Given the description of an element on the screen output the (x, y) to click on. 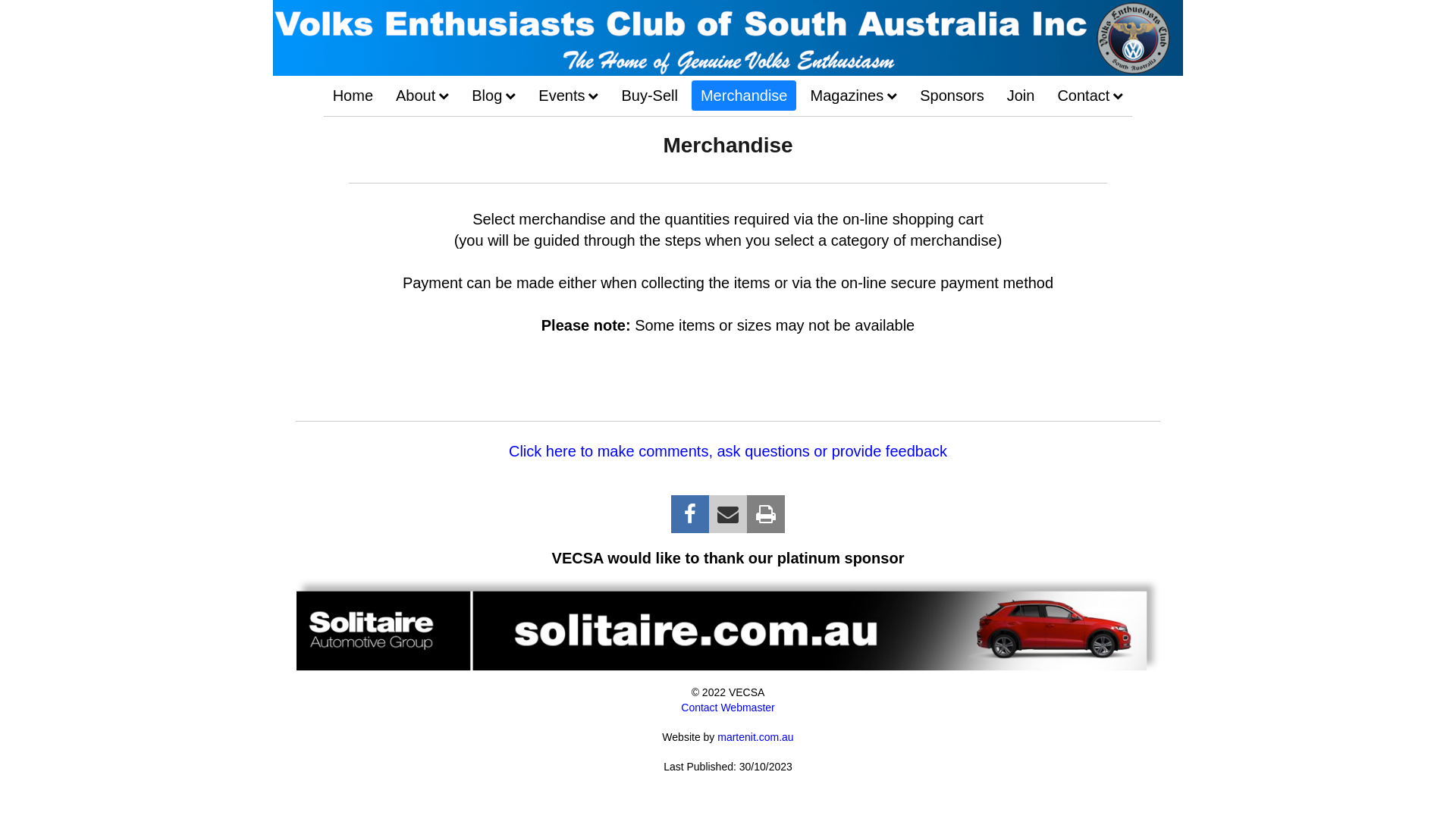
Home Element type: text (352, 95)
Email this page Element type: hover (727, 514)
Contact Element type: text (1090, 95)
Magazines Element type: text (853, 95)
Events Element type: text (568, 95)
About Element type: text (422, 95)
Print this page Element type: hover (765, 514)
Merchandise Element type: text (744, 95)
martenit.com.au Element type: text (755, 737)
Join Element type: text (1020, 95)
Contact Webmaster Element type: text (727, 707)
Blog Element type: text (493, 95)
Share this page on Facebook Element type: hover (690, 514)
Sponsors Element type: text (951, 95)
Buy-Sell Element type: text (648, 95)
